Given the description of an element on the screen output the (x, y) to click on. 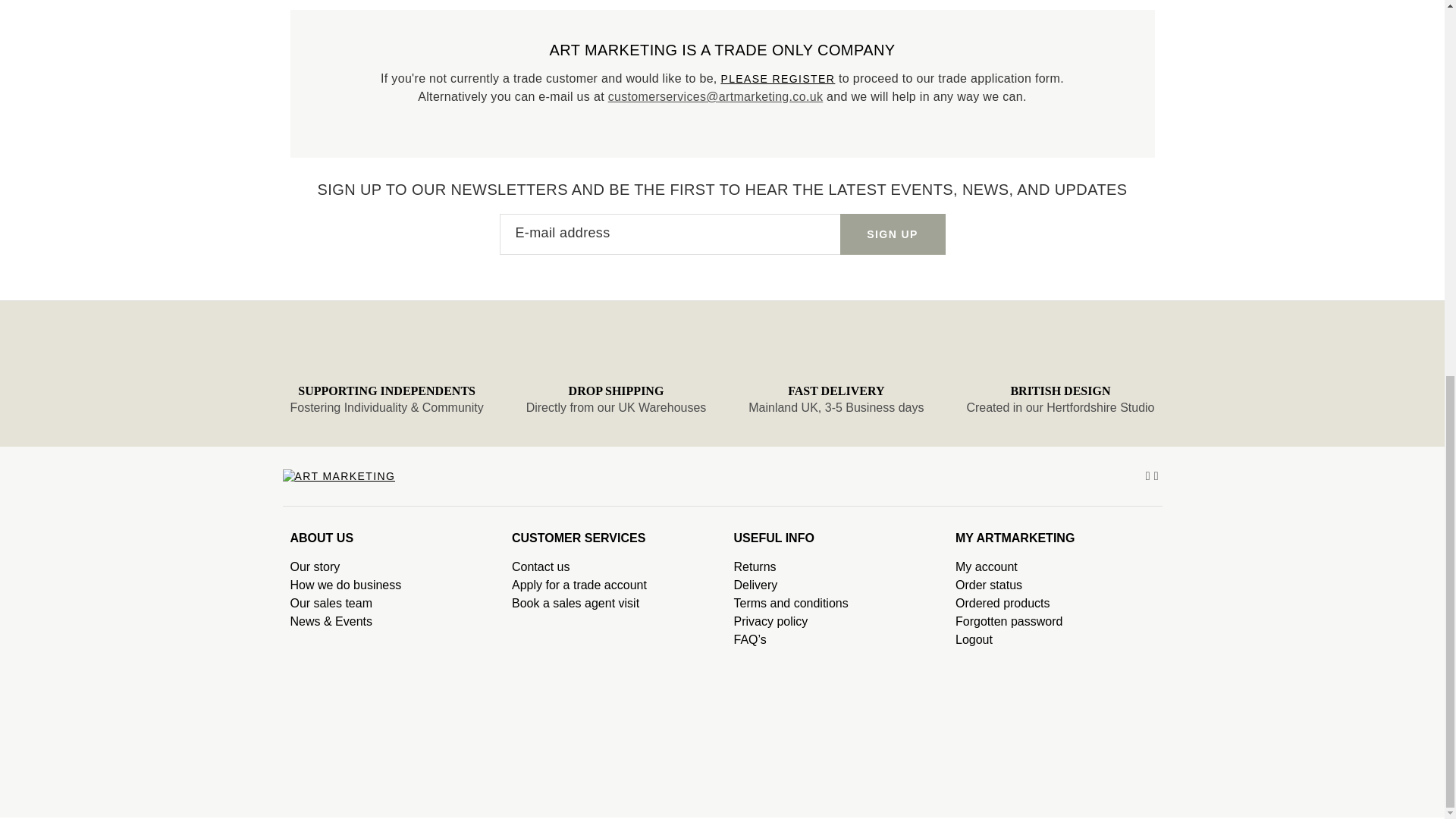
Terms and conditions (833, 603)
Delivery (833, 585)
Our story (389, 566)
Forgotten password (1054, 621)
Ordered products (1054, 603)
Ordered products (1054, 603)
Order status (1054, 585)
Privacy policy (833, 621)
Logout (1054, 639)
SIGN UP (892, 233)
PLEASE REGISTER (777, 78)
Our sales team (389, 603)
Apply for a trade account (611, 585)
Contact us (611, 566)
Delivery (833, 585)
